Given the description of an element on the screen output the (x, y) to click on. 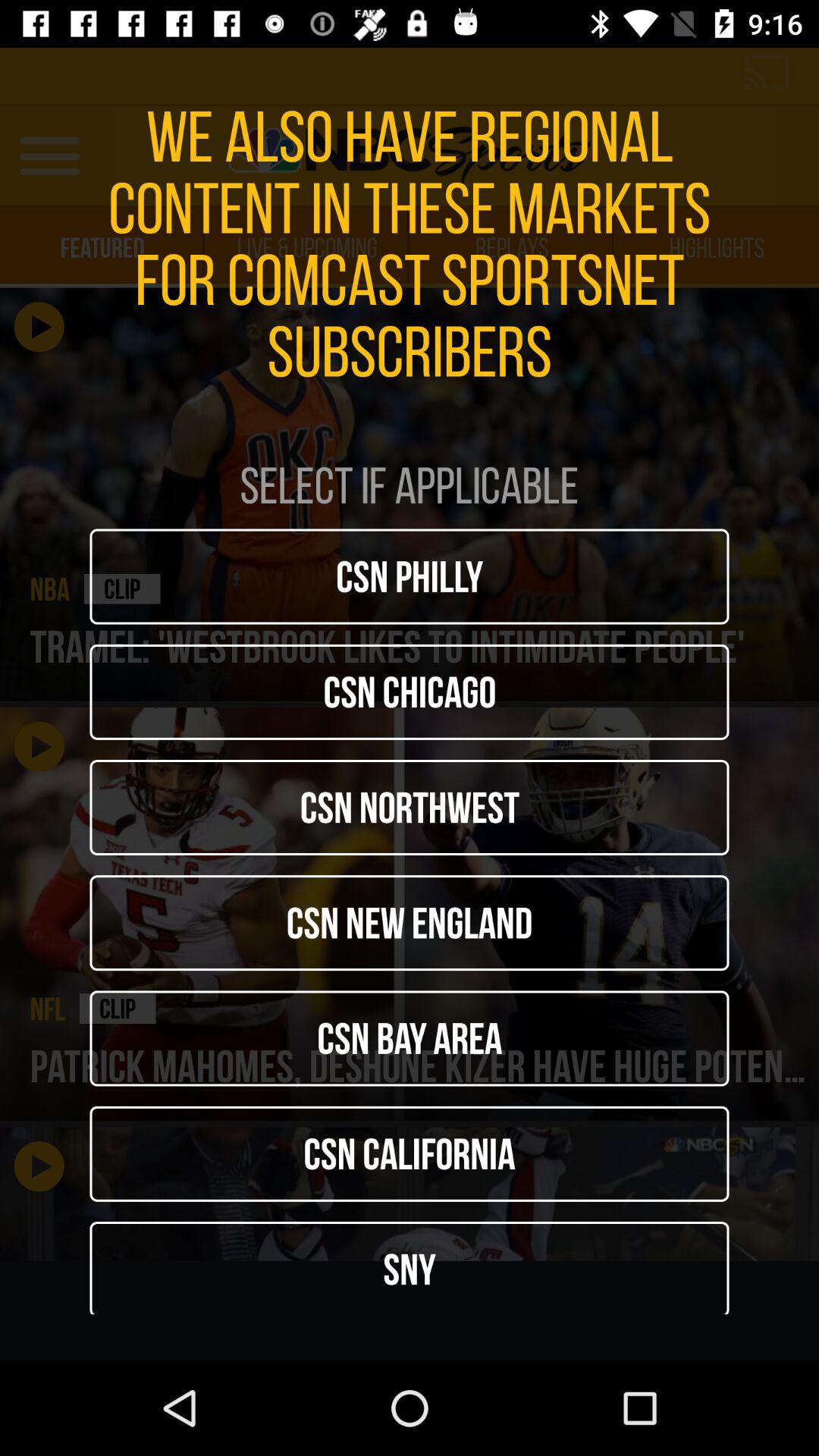
flip to the csn northwest item (409, 807)
